Given the description of an element on the screen output the (x, y) to click on. 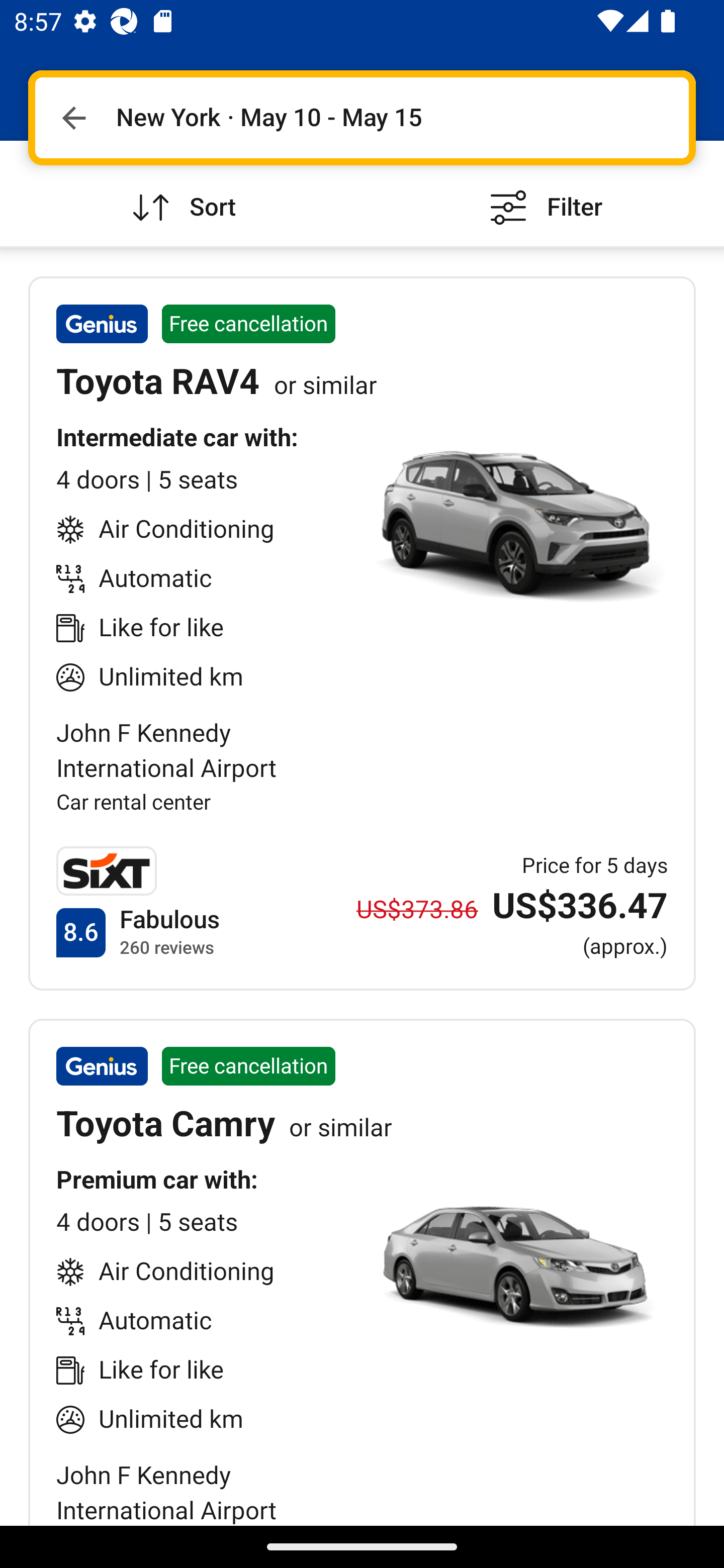
Back to previous screen (73, 117)
Sort (181, 193)
Filter (543, 193)
